Given the description of an element on the screen output the (x, y) to click on. 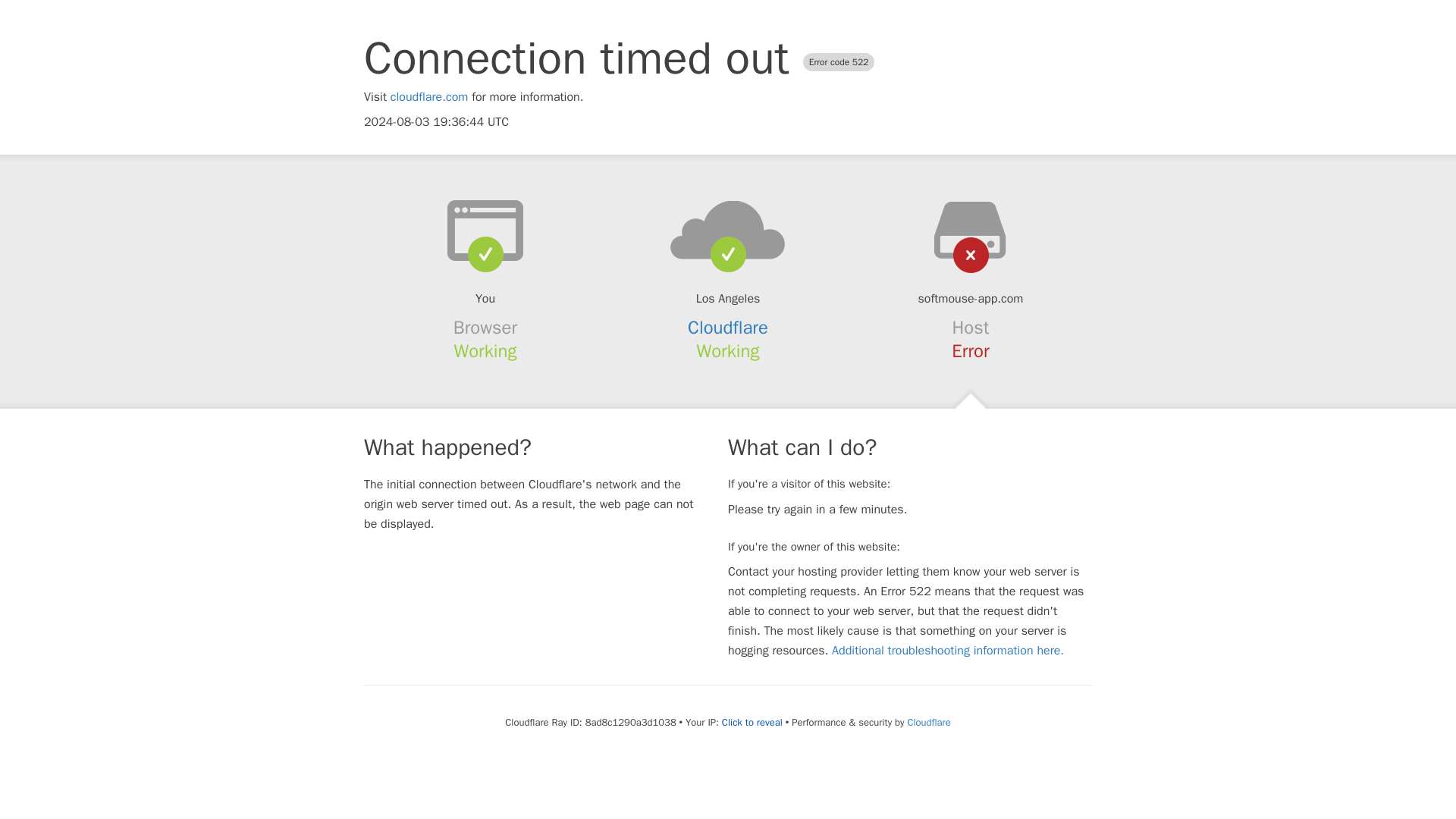
Cloudflare (928, 721)
Click to reveal (752, 722)
Cloudflare (727, 327)
Additional troubleshooting information here. (947, 650)
cloudflare.com (429, 96)
